Given the description of an element on the screen output the (x, y) to click on. 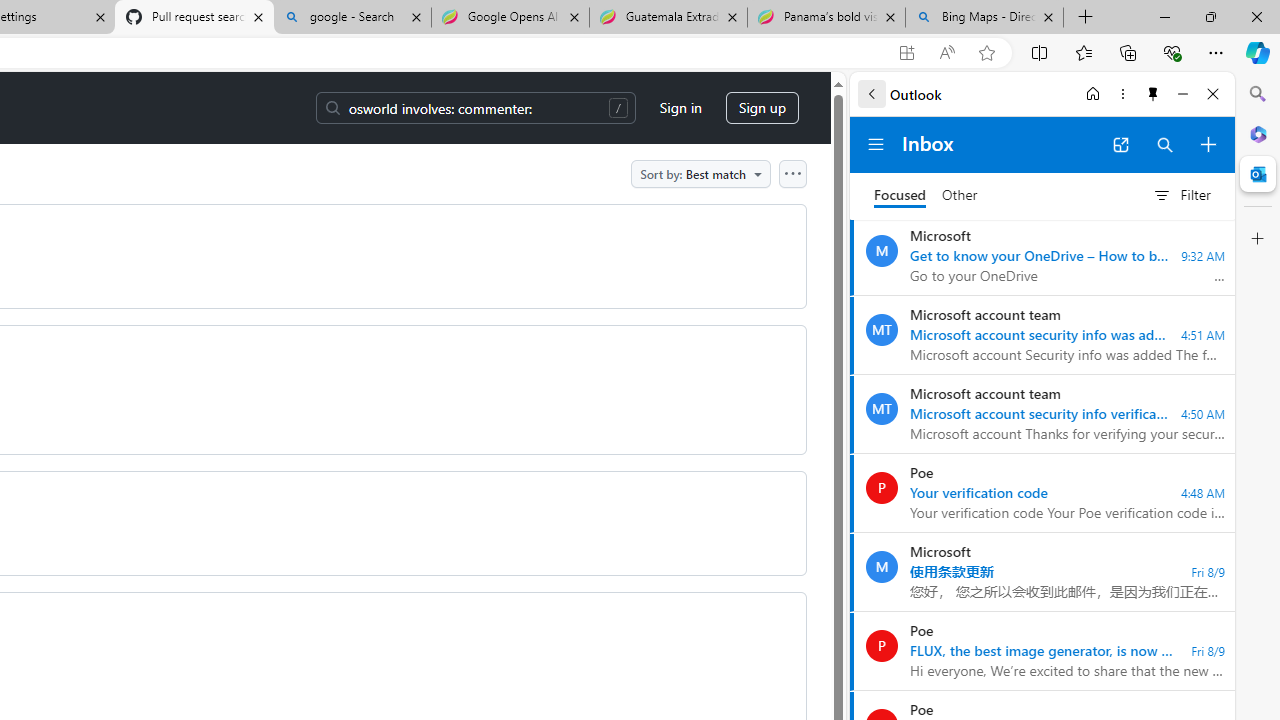
Google Opens AI Academy for Startups - Nearshore Americas (509, 17)
Open column options (792, 173)
google - Search (352, 17)
Sign in (680, 107)
App available. Install GitHub (906, 53)
Filter (1181, 195)
